Given the description of an element on the screen output the (x, y) to click on. 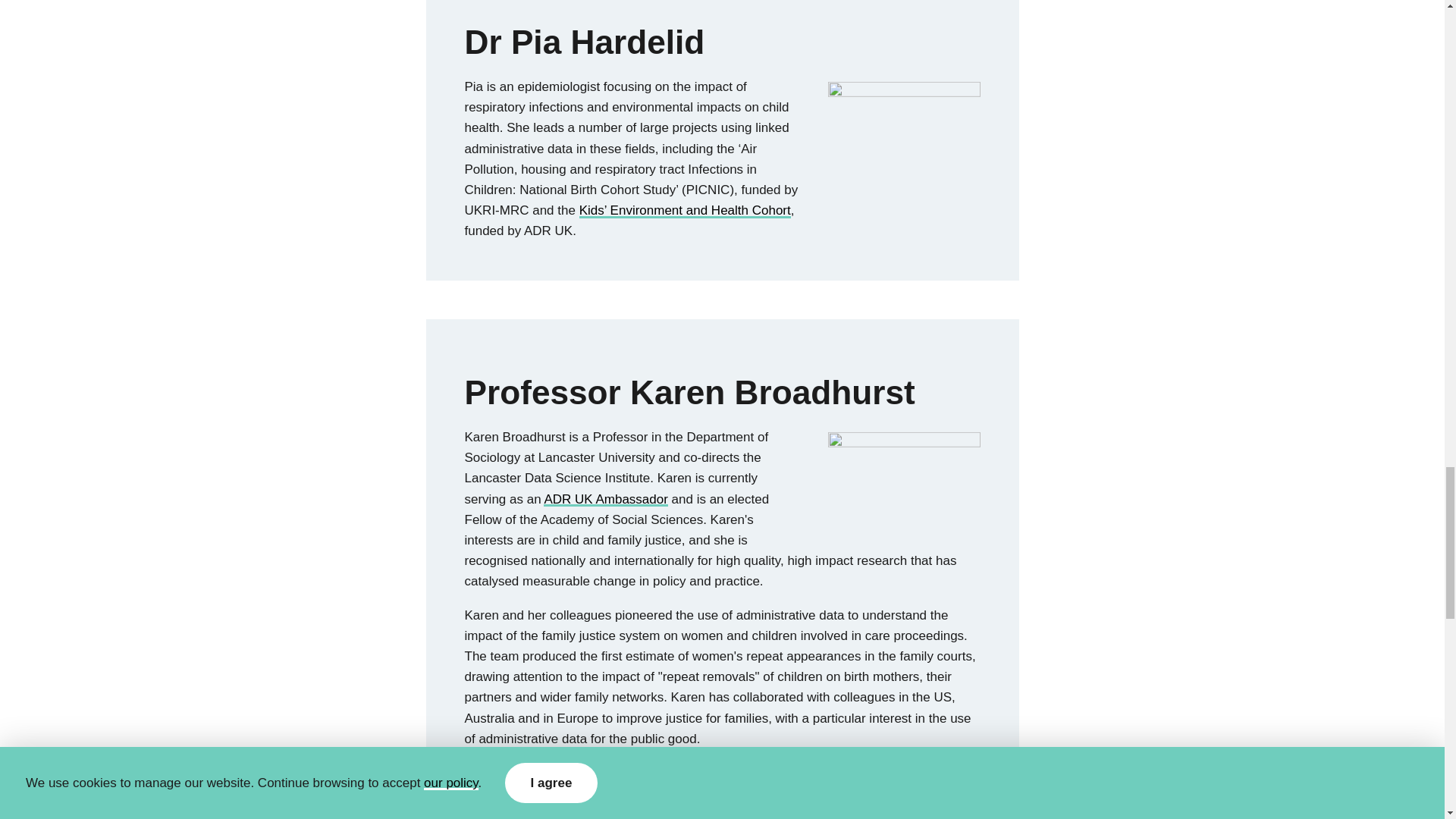
ADR UK Ambassador (604, 500)
